Given the description of an element on the screen output the (x, y) to click on. 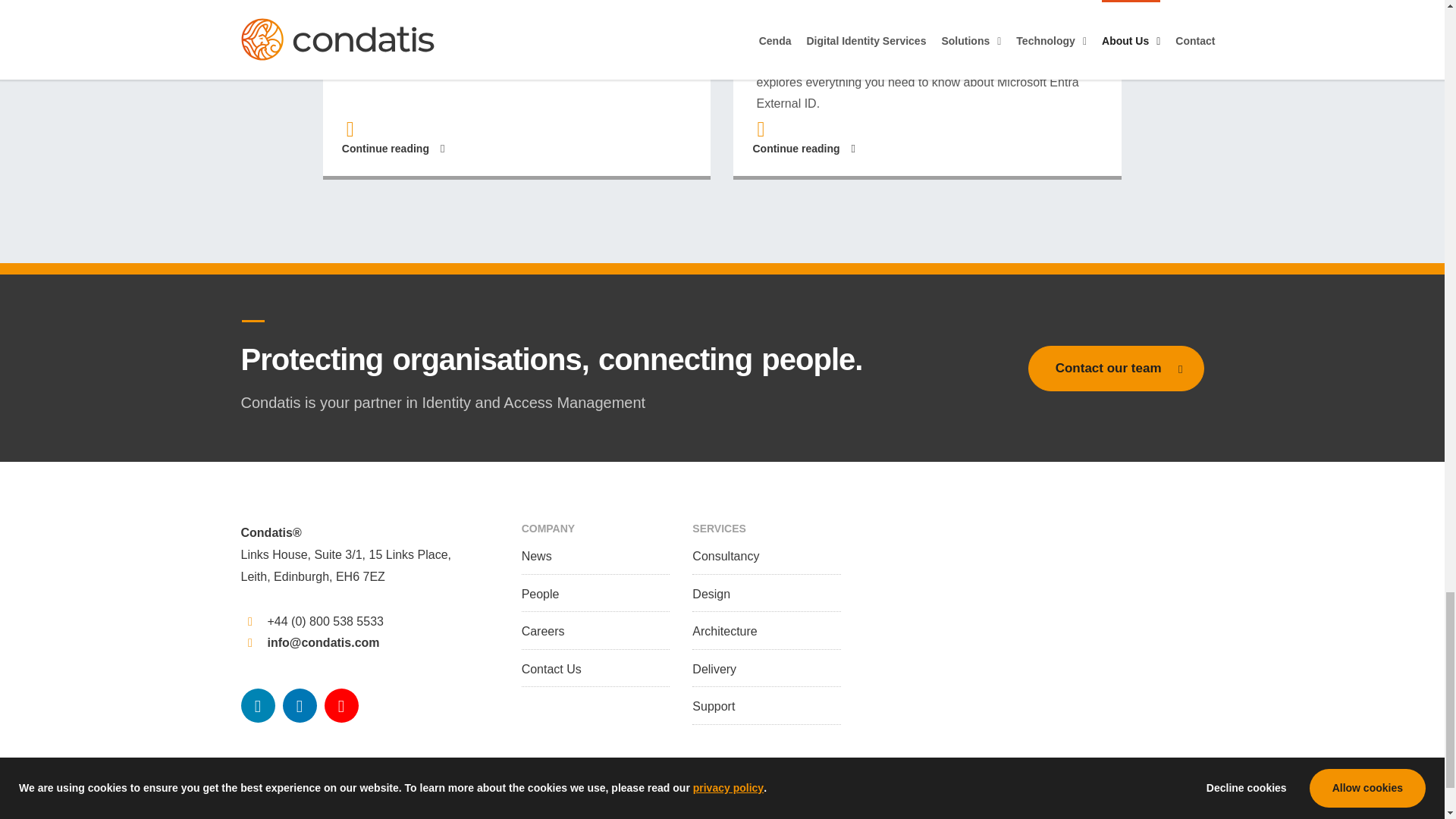
Follow Condatis on Linkedin (298, 705)
View post (517, 89)
Follow Condatis on Twitter (258, 705)
Subscribe on Condatis Youtube (341, 705)
Directions to Condatis Edinburgh (346, 565)
Contact our team (1115, 368)
View post (927, 89)
